Given the description of an element on the screen output the (x, y) to click on. 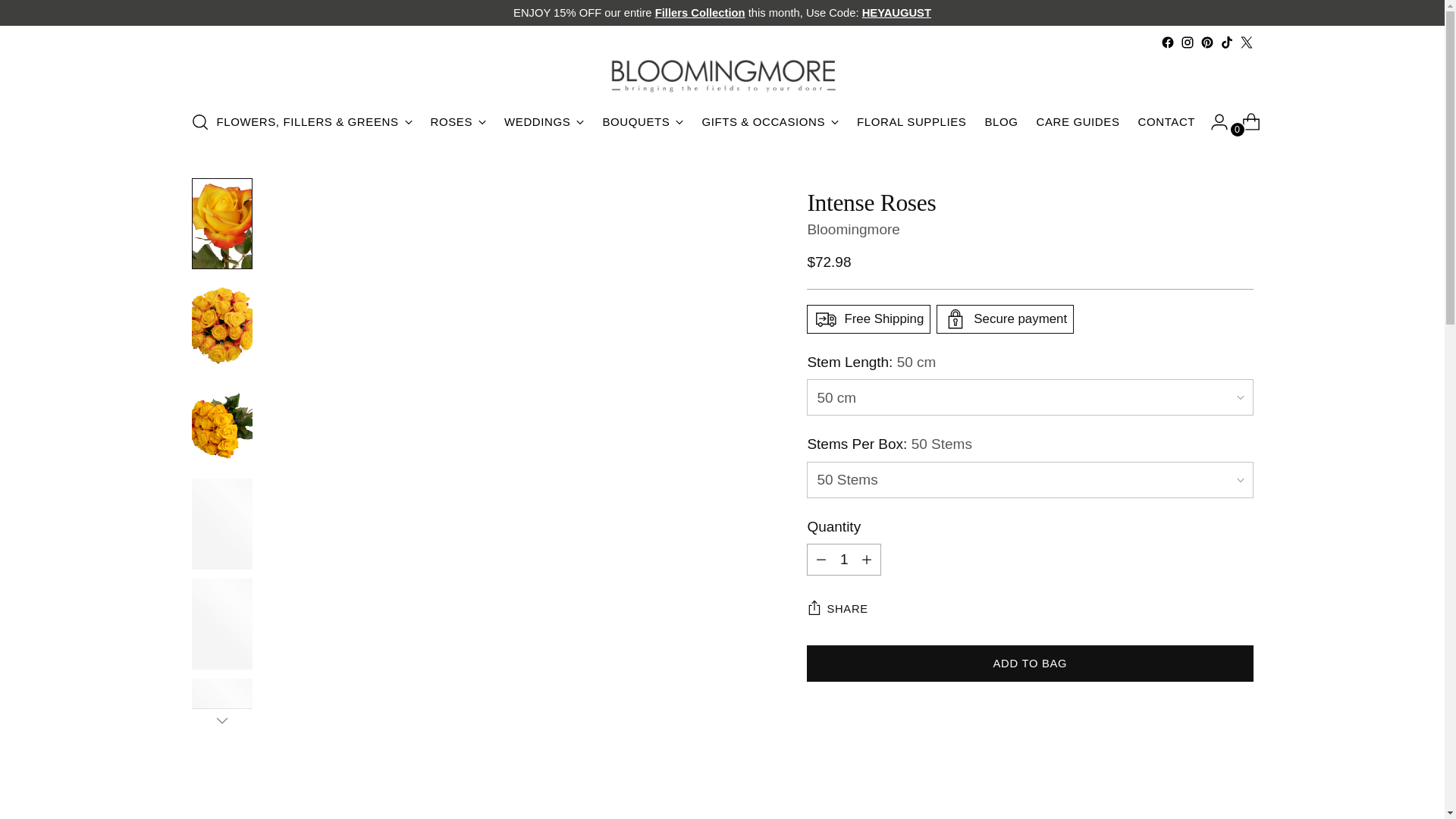
Bloomingmore on Pinterest (1205, 42)
FIillers Collection (700, 12)
Bloomingmore on Twitter (1245, 42)
Bloomingmore on Facebook (1166, 42)
HEYAUGUST (896, 12)
1 (843, 559)
Down (220, 720)
Bloomingmore on Tiktok (1226, 42)
Bloomingmore on Instagram (1186, 42)
